Given the description of an element on the screen output the (x, y) to click on. 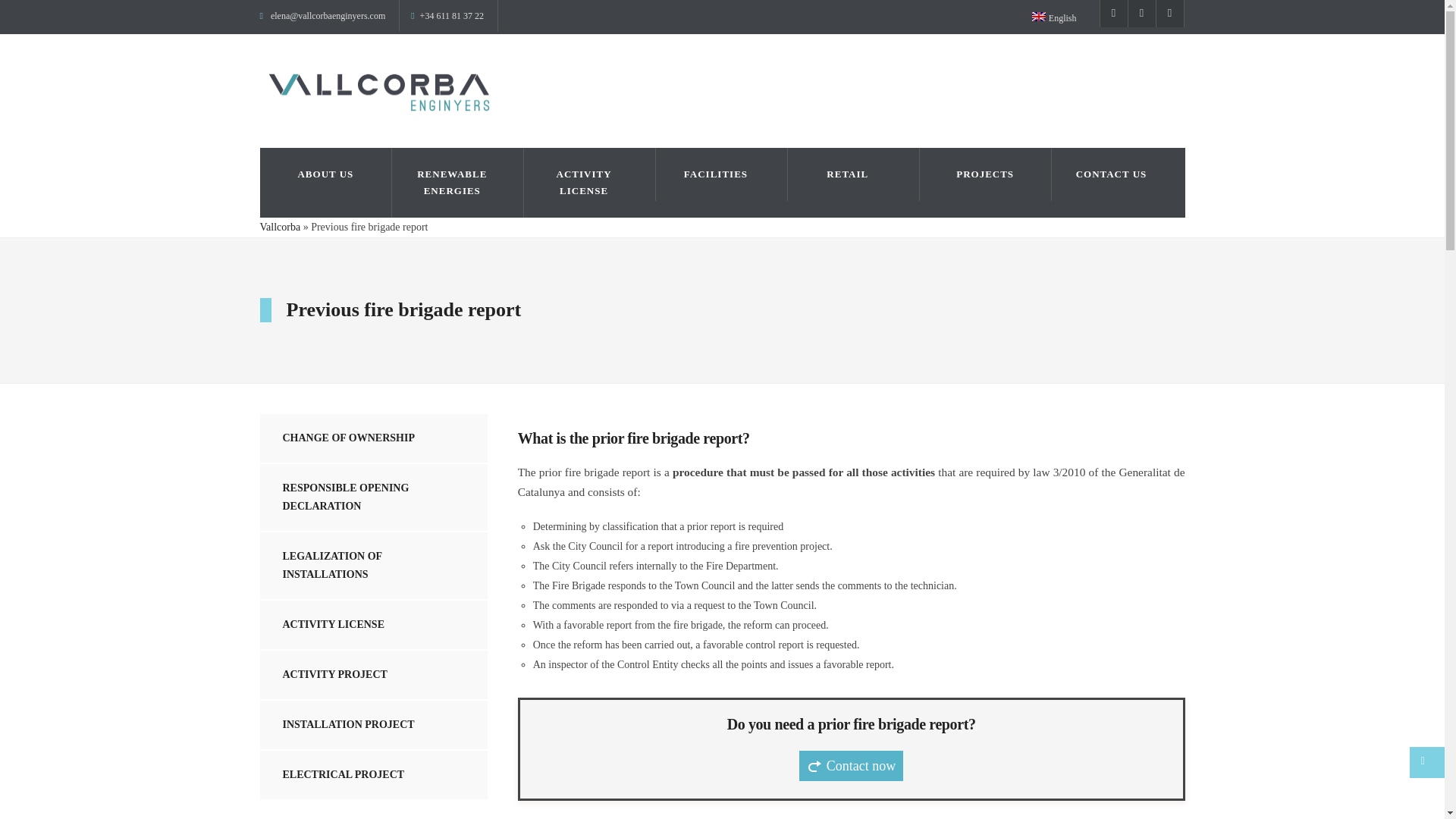
English (1038, 16)
Instagram (1141, 13)
English (1059, 17)
LinkedIn (1170, 13)
Facebook (1113, 13)
English (1059, 17)
RENEWABLE ENERGIES (457, 182)
ACTIVITY LICENSE (589, 182)
ABOUT US (325, 174)
